Given the description of an element on the screen output the (x, y) to click on. 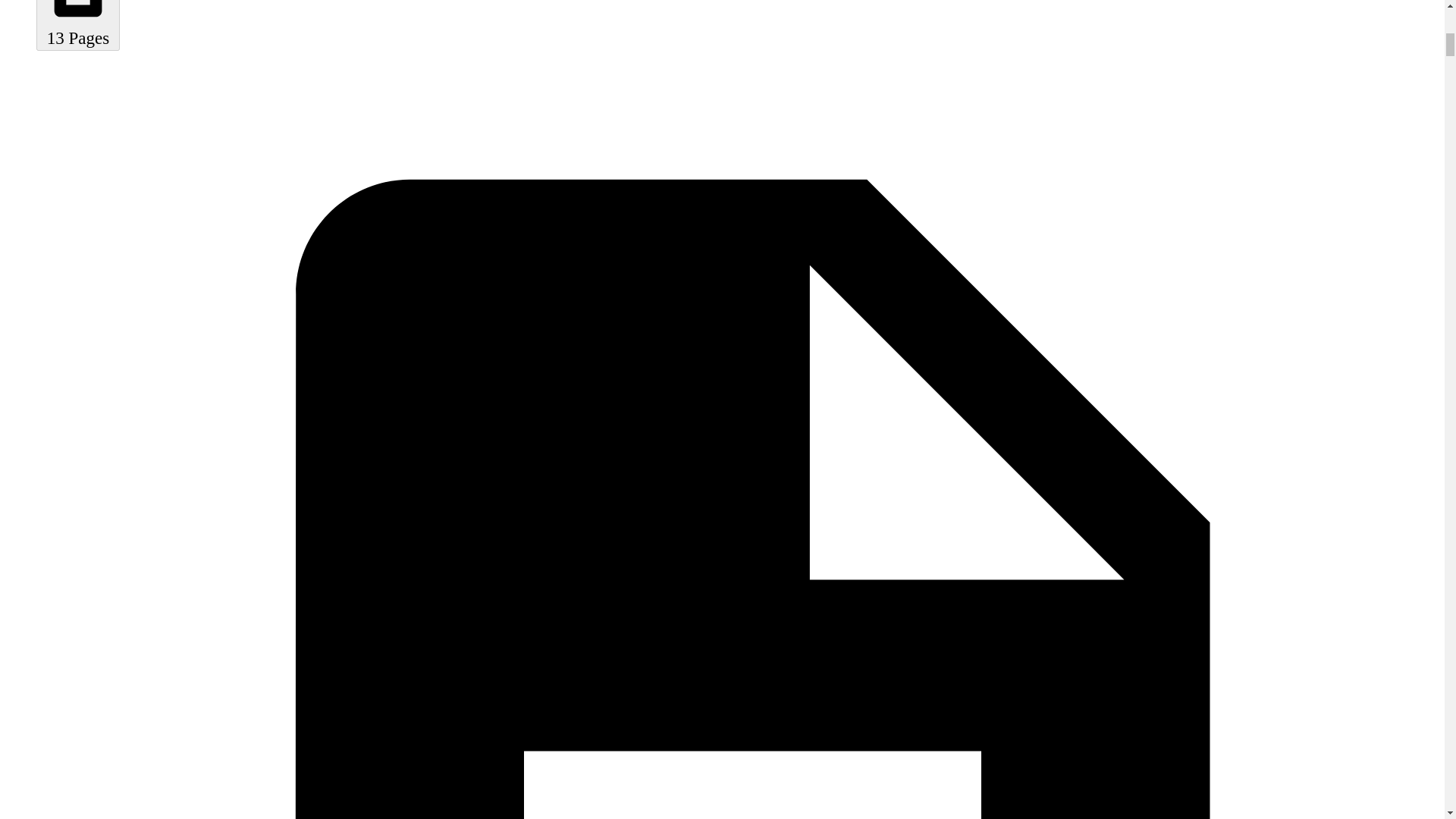
13 Pages (77, 24)
